Given the description of an element on the screen output the (x, y) to click on. 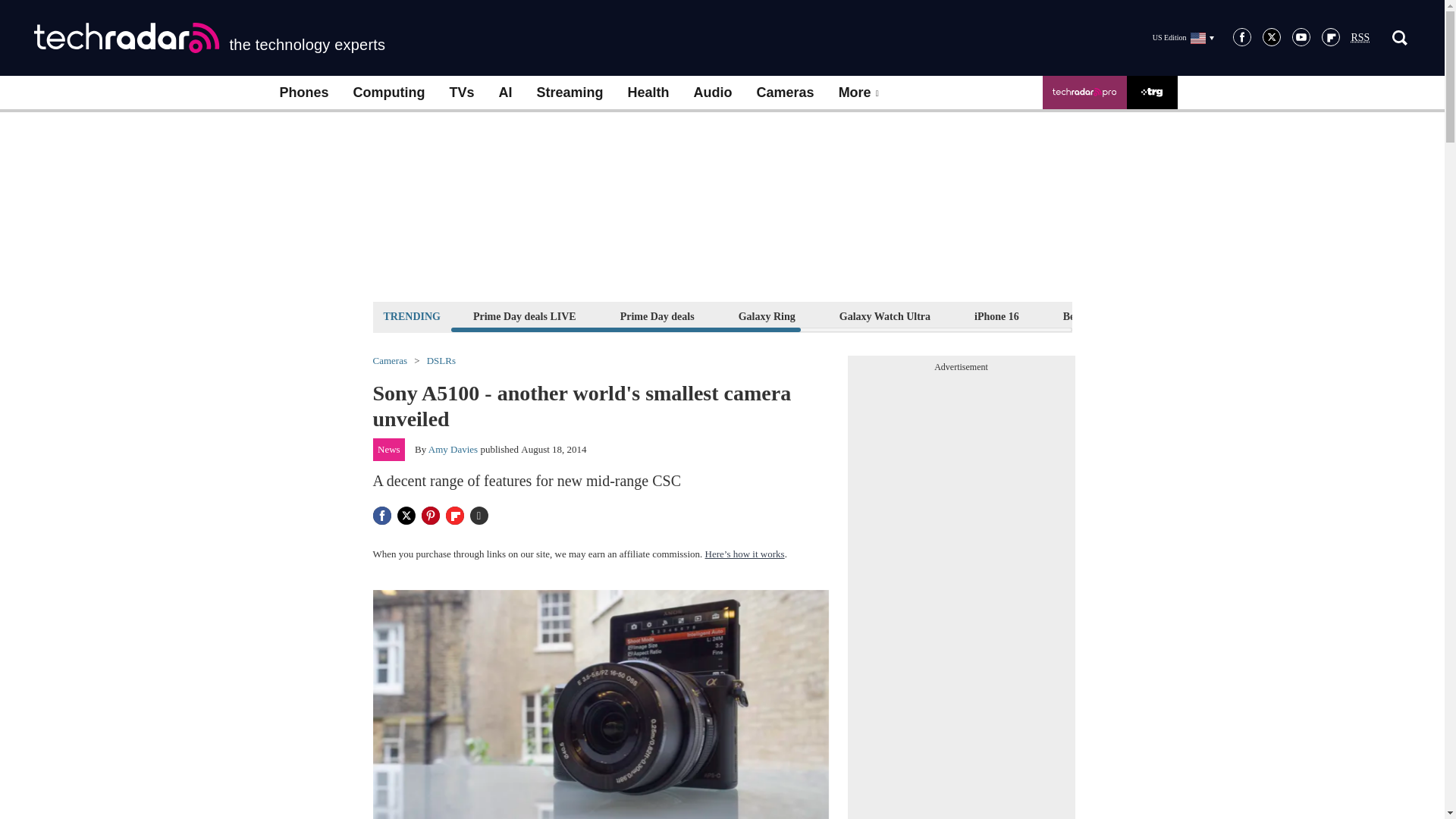
TVs (461, 92)
Streaming (569, 92)
Cameras (785, 92)
Phones (303, 92)
Really Simple Syndication (1360, 37)
Audio (712, 92)
Computing (389, 92)
the technology experts (209, 38)
Health (648, 92)
US Edition (1182, 37)
AI (505, 92)
